Given the description of an element on the screen output the (x, y) to click on. 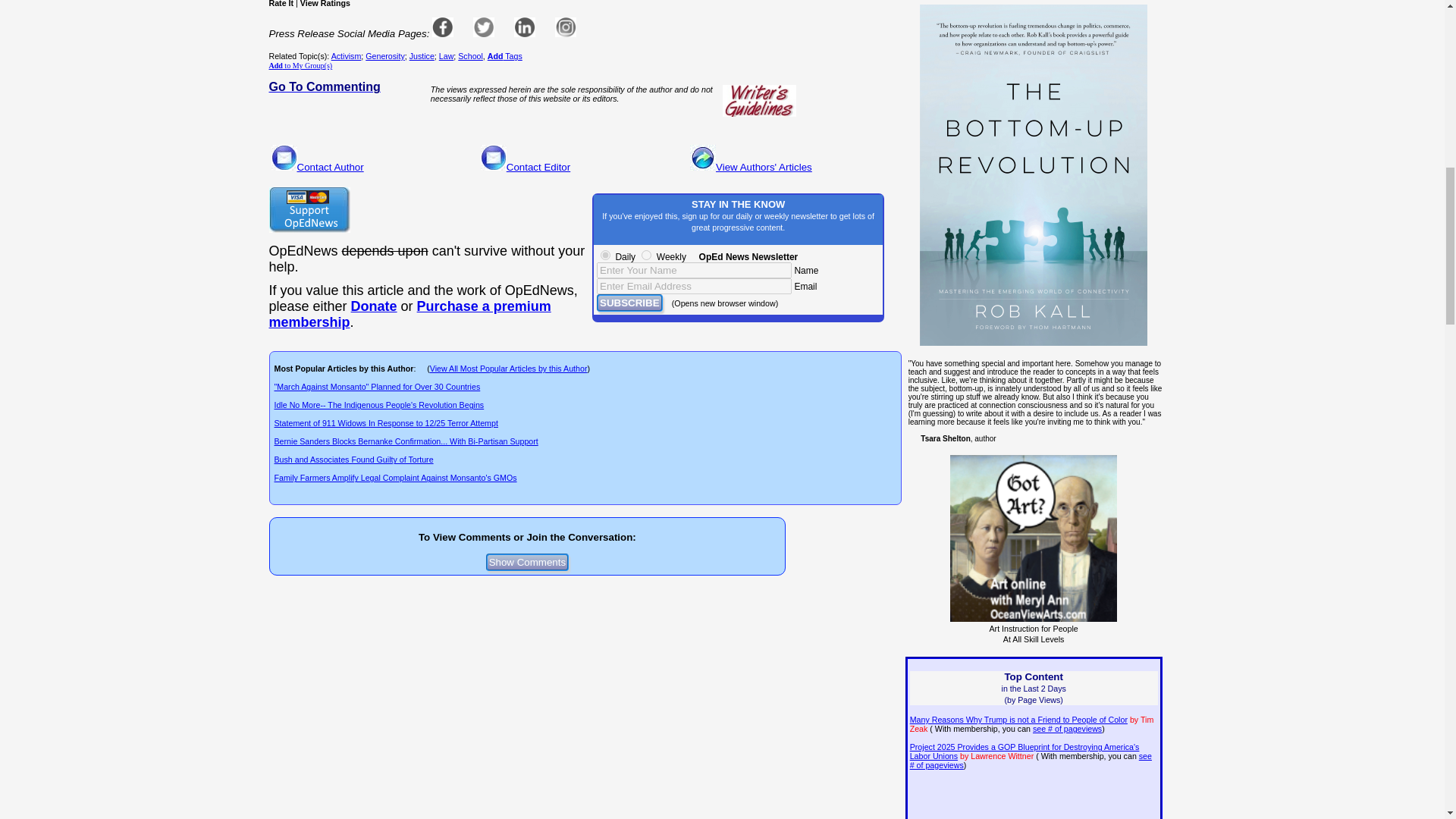
School (470, 55)
Contact Author (330, 166)
Enter Your Name (694, 270)
SUBSCRIBE (629, 303)
Rate It (280, 3)
Add Tags (504, 55)
Instagram page url on login Profile not filled in (565, 26)
-- (408, 314)
View Ratings (324, 3)
Linkedin page url on login Profile not filled in (524, 26)
